Given the description of an element on the screen output the (x, y) to click on. 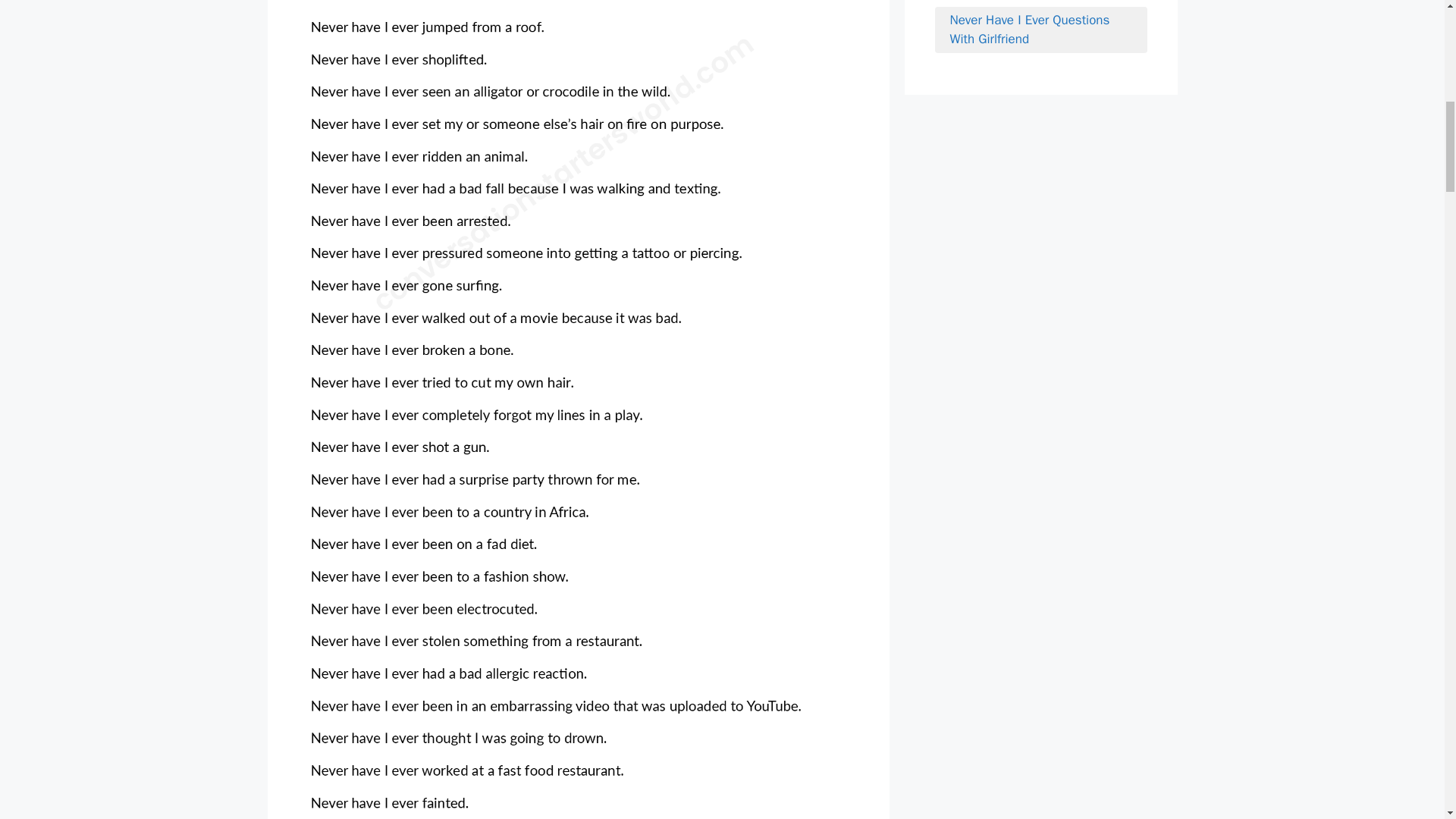
Never Have I Ever Questions With Girlfriend (1040, 29)
